Given the description of an element on the screen output the (x, y) to click on. 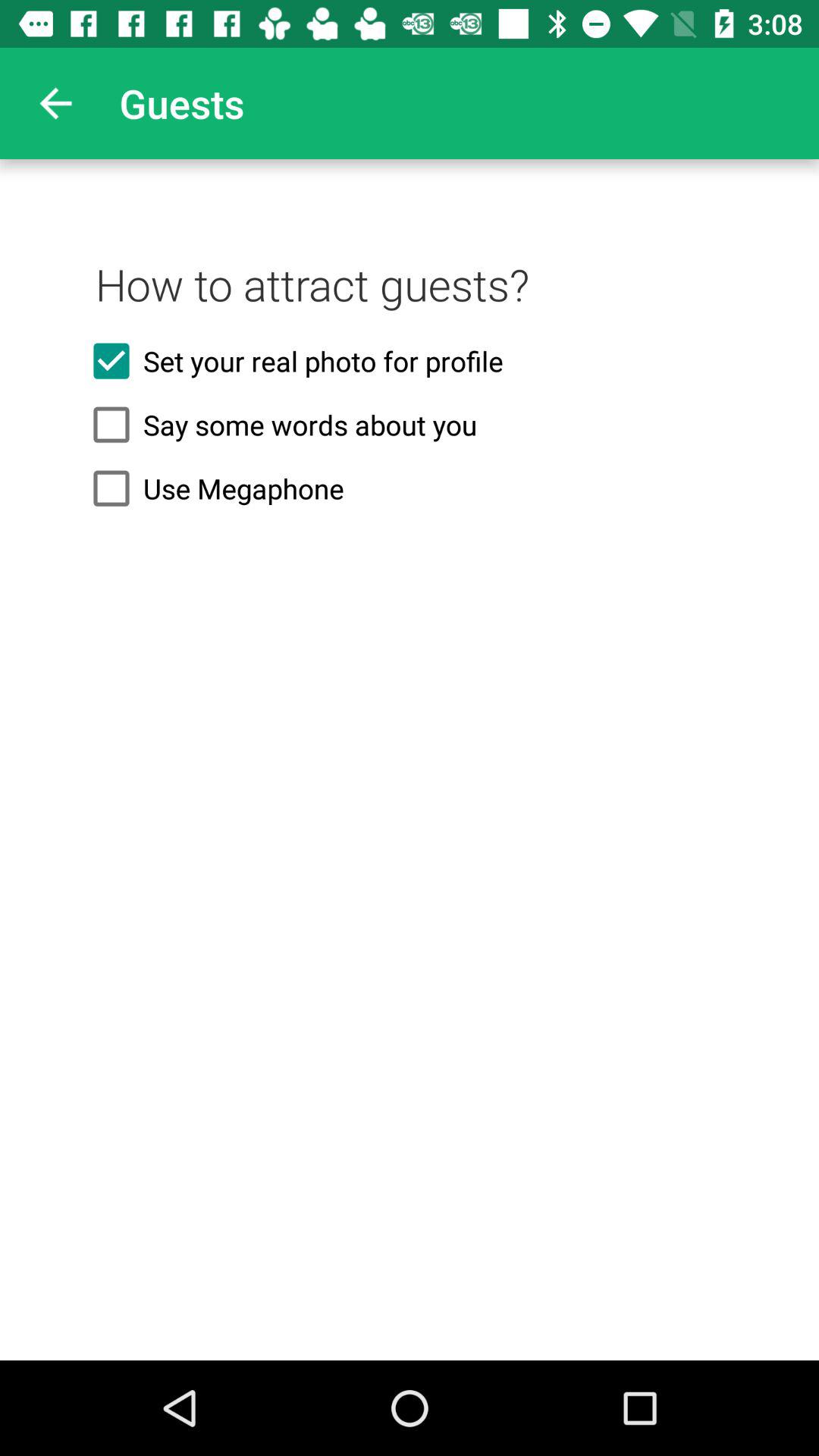
scroll to the say some words item (409, 424)
